Given the description of an element on the screen output the (x, y) to click on. 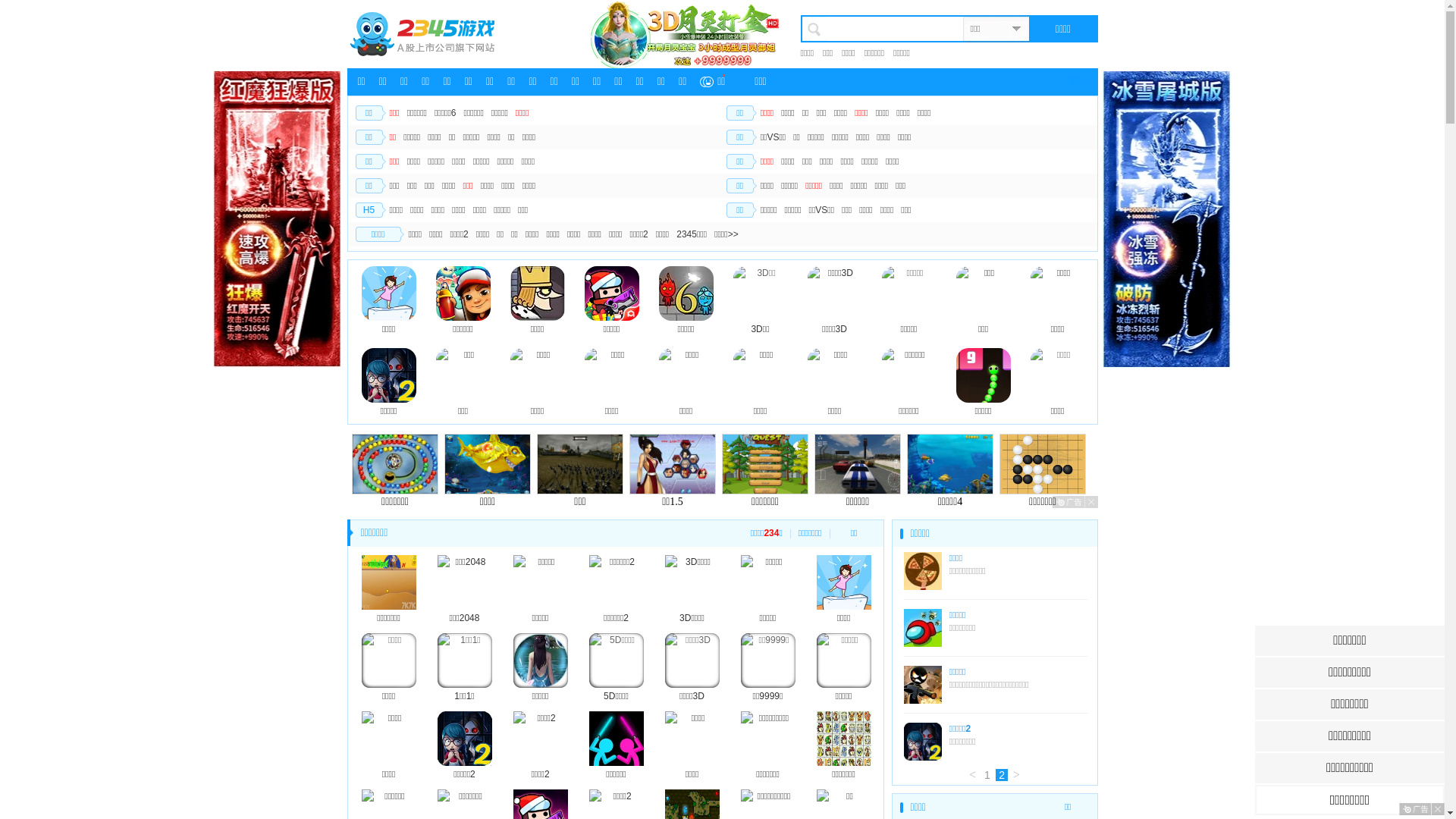
< Element type: text (972, 774)
1 Element type: text (987, 774)
> Element type: text (1016, 774)
2 Element type: text (1001, 774)
H5 Element type: text (368, 209)
